Given the description of an element on the screen output the (x, y) to click on. 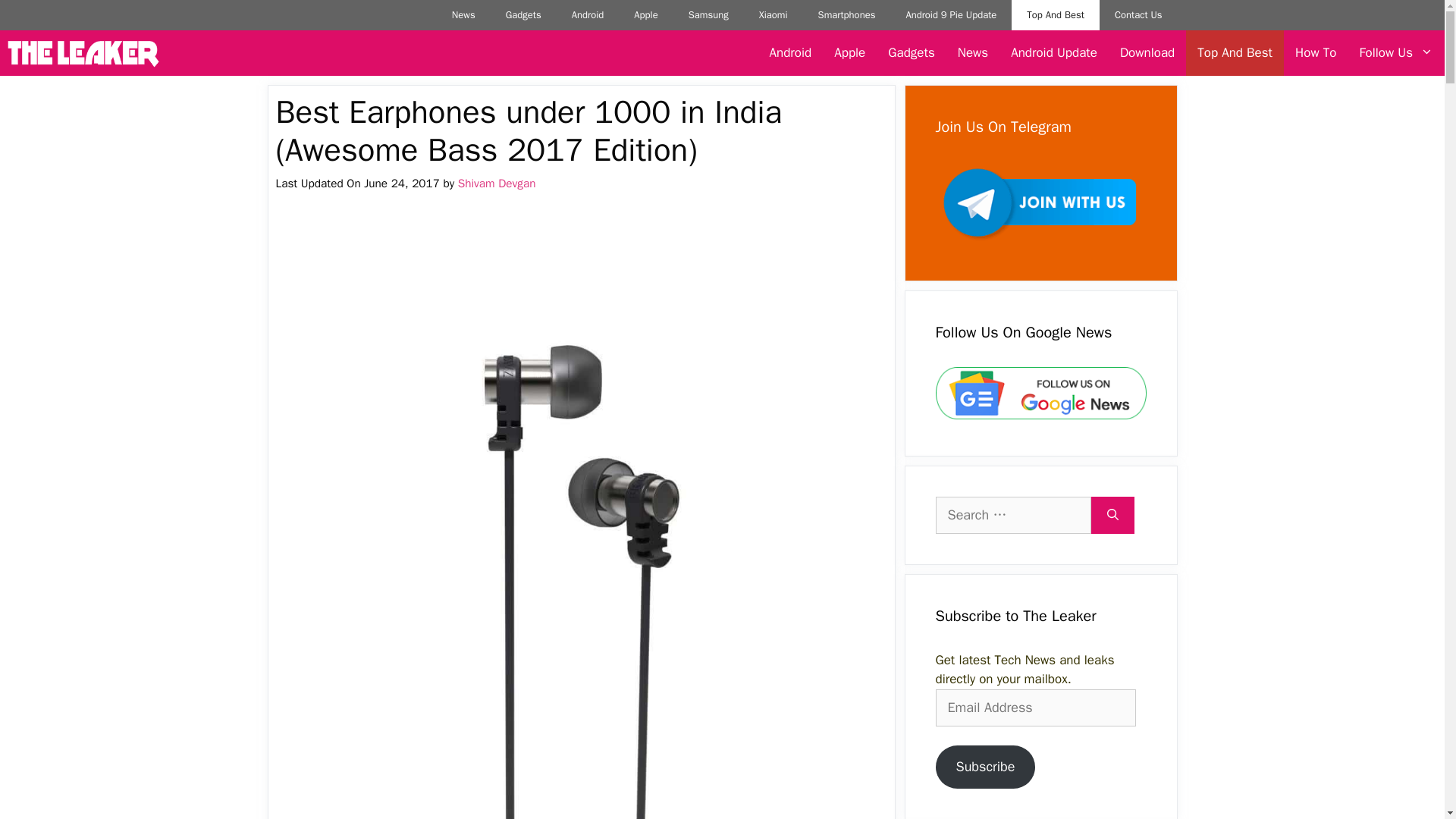
Android 9 Pie Update (950, 15)
Top And Best (1235, 53)
Android (588, 15)
Contact Us (1138, 15)
Apple (849, 53)
Smartphones (847, 15)
View all posts by Shivam Devgan (496, 183)
Gadgets (523, 15)
Top And Best (1055, 15)
Android Update (1053, 53)
